Given the description of an element on the screen output the (x, y) to click on. 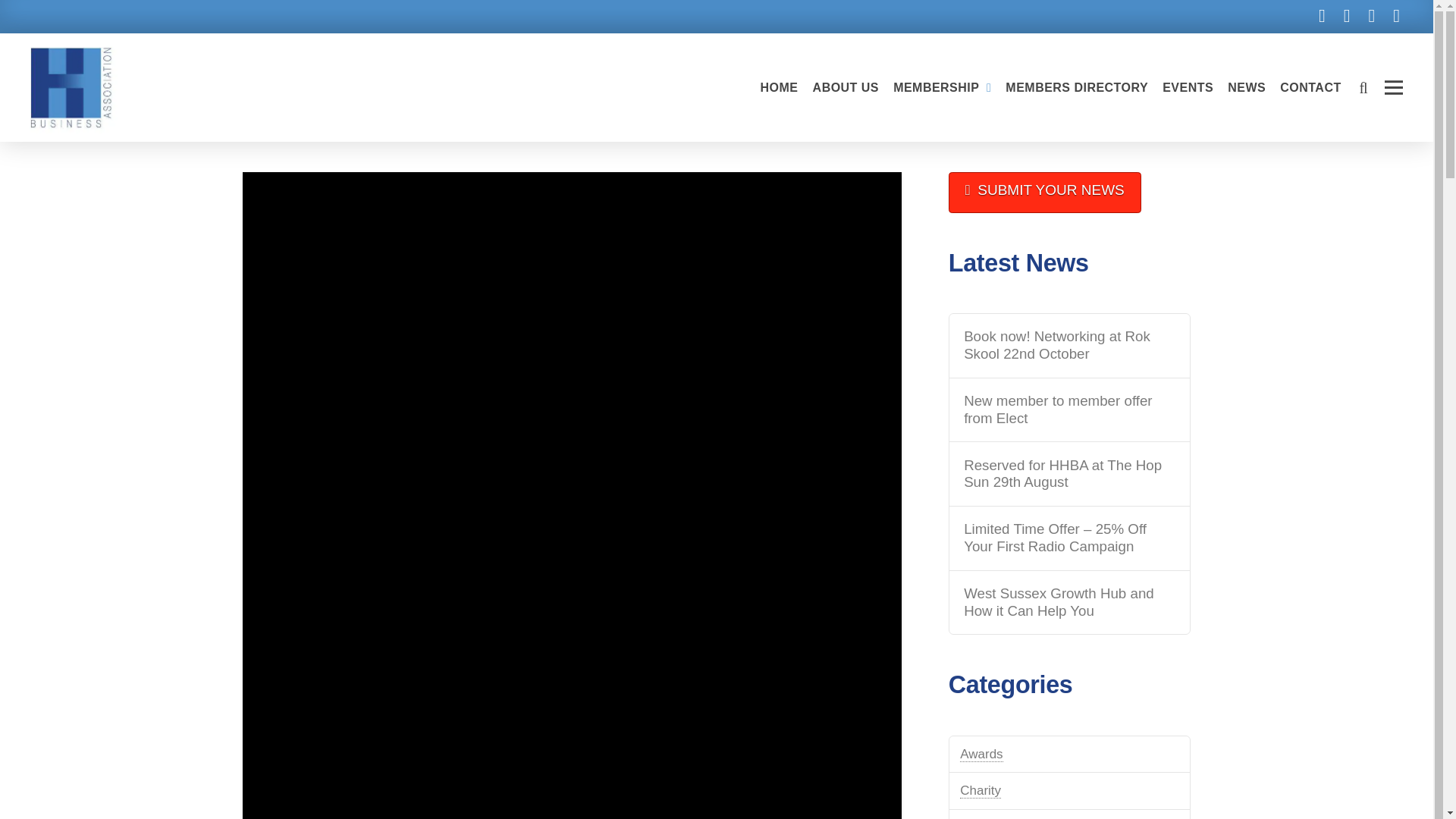
EVENTS (1187, 87)
Reserved for HHBA at The Hop Sun 29th August (1068, 474)
West Sussex Growth Hub and How it Can Help You (1068, 602)
NEWS (1246, 87)
HOME (778, 87)
MEMBERSHIP (941, 87)
SUBMIT YOUR NEWS (1045, 191)
Awards (981, 754)
Charity (980, 790)
ABOUT US (845, 87)
